Given the description of an element on the screen output the (x, y) to click on. 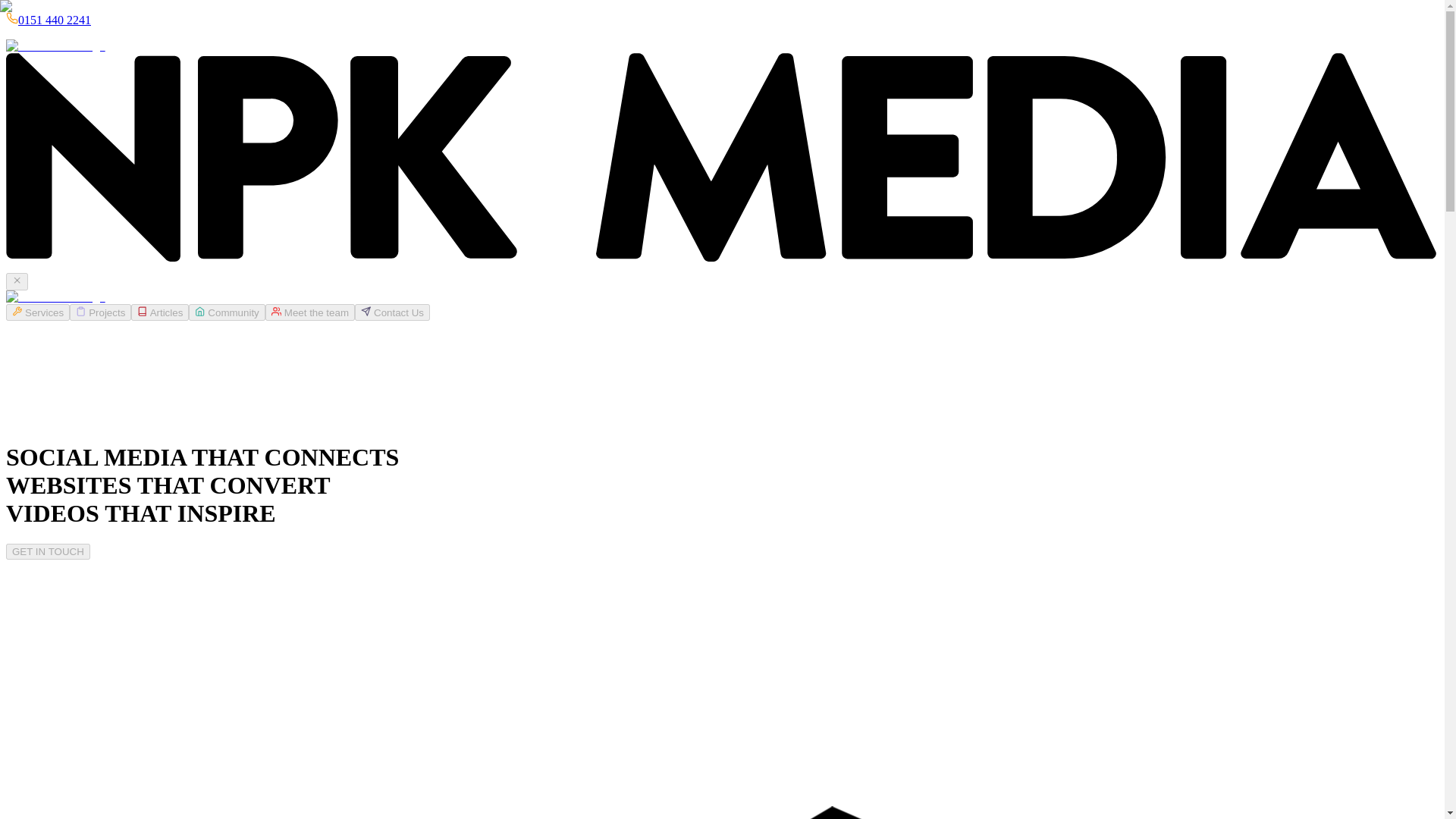
Projects (100, 311)
0151 440 2241 (53, 19)
Articles (160, 311)
Contact Us (392, 312)
Services (37, 311)
Articles (160, 312)
Projects (100, 312)
Meet the team (309, 311)
Meet the team (309, 312)
GET IN TOUCH (47, 550)
Contact Us (392, 311)
Services (37, 312)
Community (226, 312)
Community (226, 311)
GET IN TOUCH (47, 551)
